Given the description of an element on the screen output the (x, y) to click on. 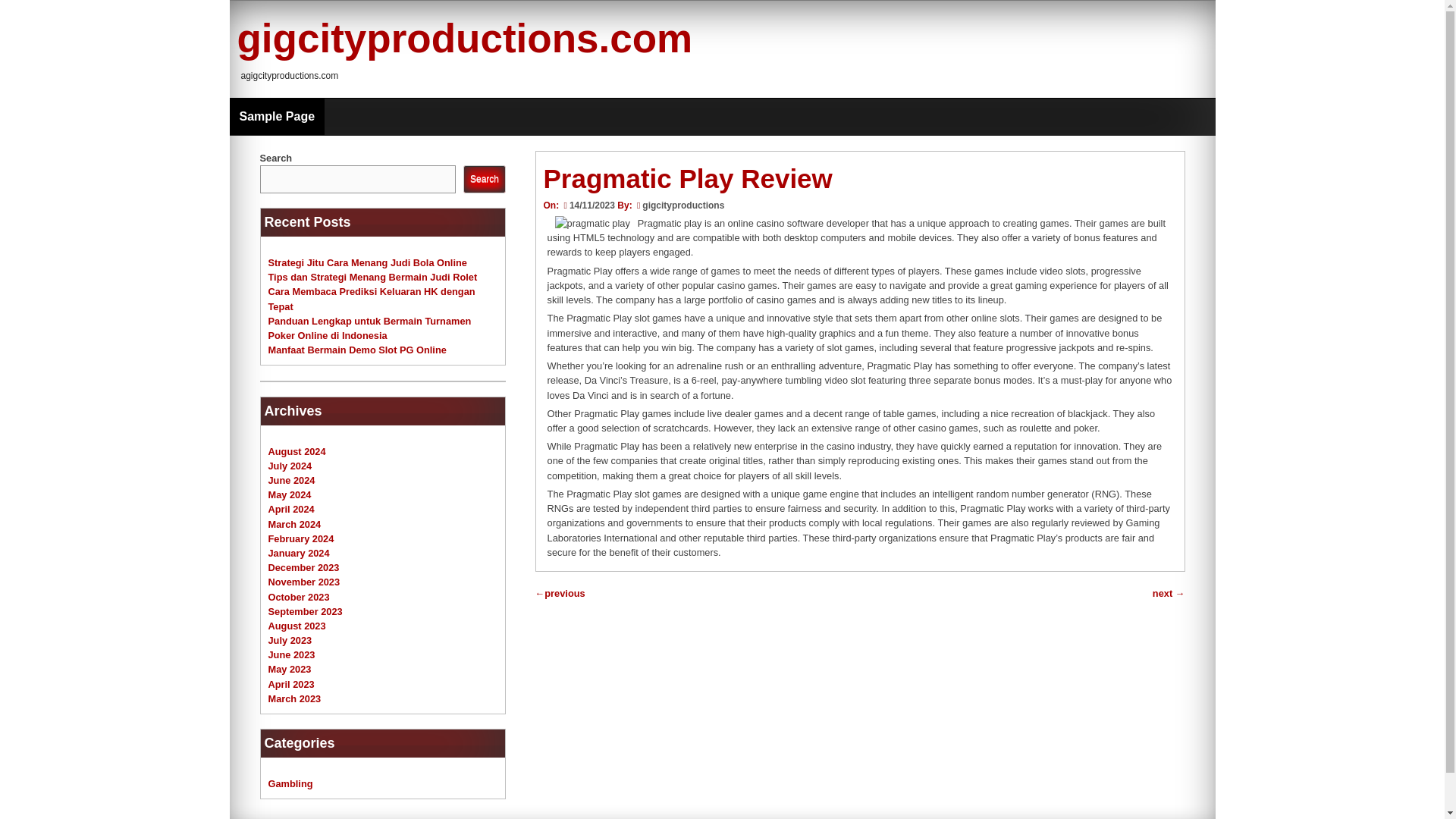
October 2023 (298, 596)
August 2024 (296, 451)
Gambling (290, 783)
Cara Membaca Prediksi Keluaran HK dengan Tepat (371, 298)
June 2023 (291, 654)
Manfaat Bermain Demo Slot PG Online (356, 349)
September 2023 (304, 611)
January 2024 (298, 552)
April 2023 (290, 684)
gigcityproductions.com (464, 37)
July 2024 (290, 465)
Sample Page (276, 116)
February 2024 (300, 538)
December 2023 (303, 567)
July 2023 (290, 640)
